Given the description of an element on the screen output the (x, y) to click on. 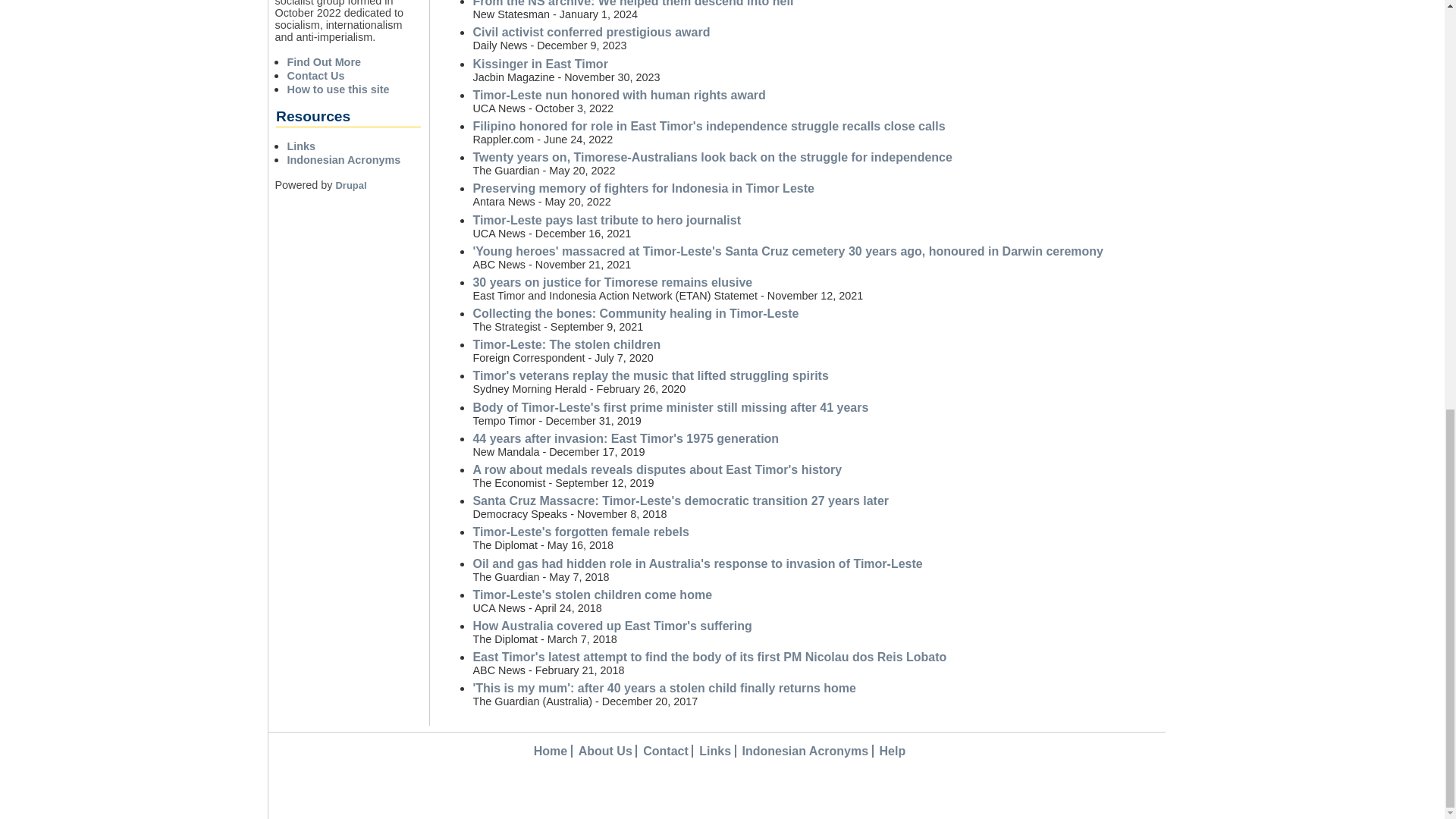
Timor-Leste: The stolen children (566, 344)
Civil activist conferred prestigious award (590, 31)
Timor-Leste's forgotten female rebels (579, 531)
Collecting the bones: Community healing in Timor-Leste (634, 313)
Timor-Leste pays last tribute to hero journalist (606, 219)
How Australia covered up East Timor's suffering (611, 625)
From the NS archive: We helped them descend into hell (632, 3)
